Given the description of an element on the screen output the (x, y) to click on. 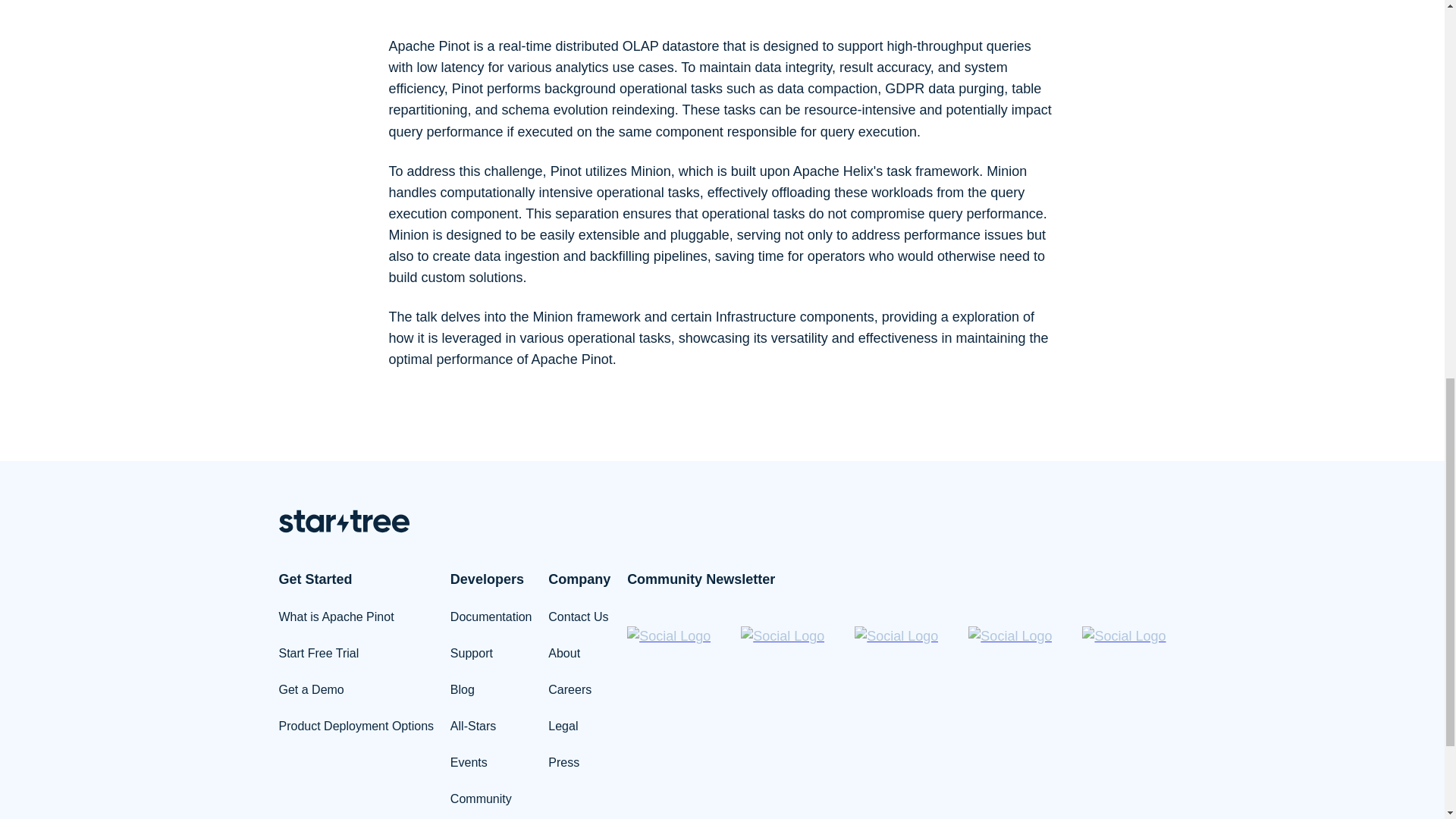
What is Apache Pinot (336, 616)
Product Deployment Options (356, 725)
Support (471, 653)
Blog (461, 689)
About (563, 653)
Contact Us (578, 616)
Events (468, 762)
Documentation (490, 616)
Get a Demo (311, 689)
All-Stars (472, 725)
